Given the description of an element on the screen output the (x, y) to click on. 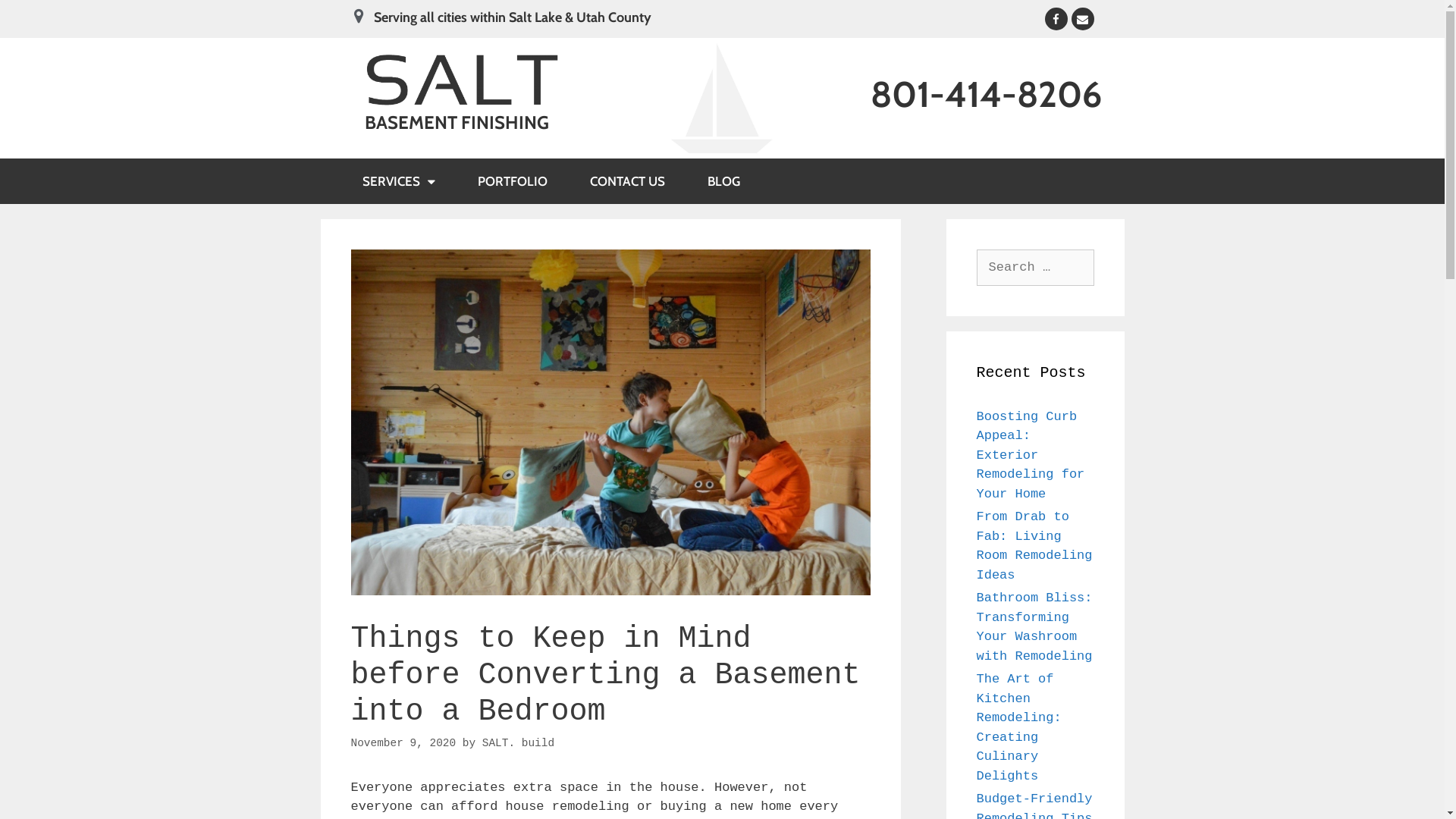
PORTFOLIO Element type: text (512, 181)
SALT. build Element type: text (518, 743)
Search for: Element type: hover (1035, 267)
The Art of Kitchen Remodeling: Creating Culinary Delights Element type: text (1018, 727)
CONTACT US Element type: text (627, 181)
Bathroom Bliss: Transforming Your Washroom with Remodeling Element type: text (1034, 626)
Search Element type: text (39, 18)
Boosting Curb Appeal: Exterior Remodeling for Your Home Element type: text (1030, 455)
801-414-8206 Element type: text (985, 94)
From Drab to Fab: Living Room Remodeling Ideas Element type: text (1034, 545)
SERVICES Element type: text (398, 181)
BLOG Element type: text (723, 181)
